Given the description of an element on the screen output the (x, y) to click on. 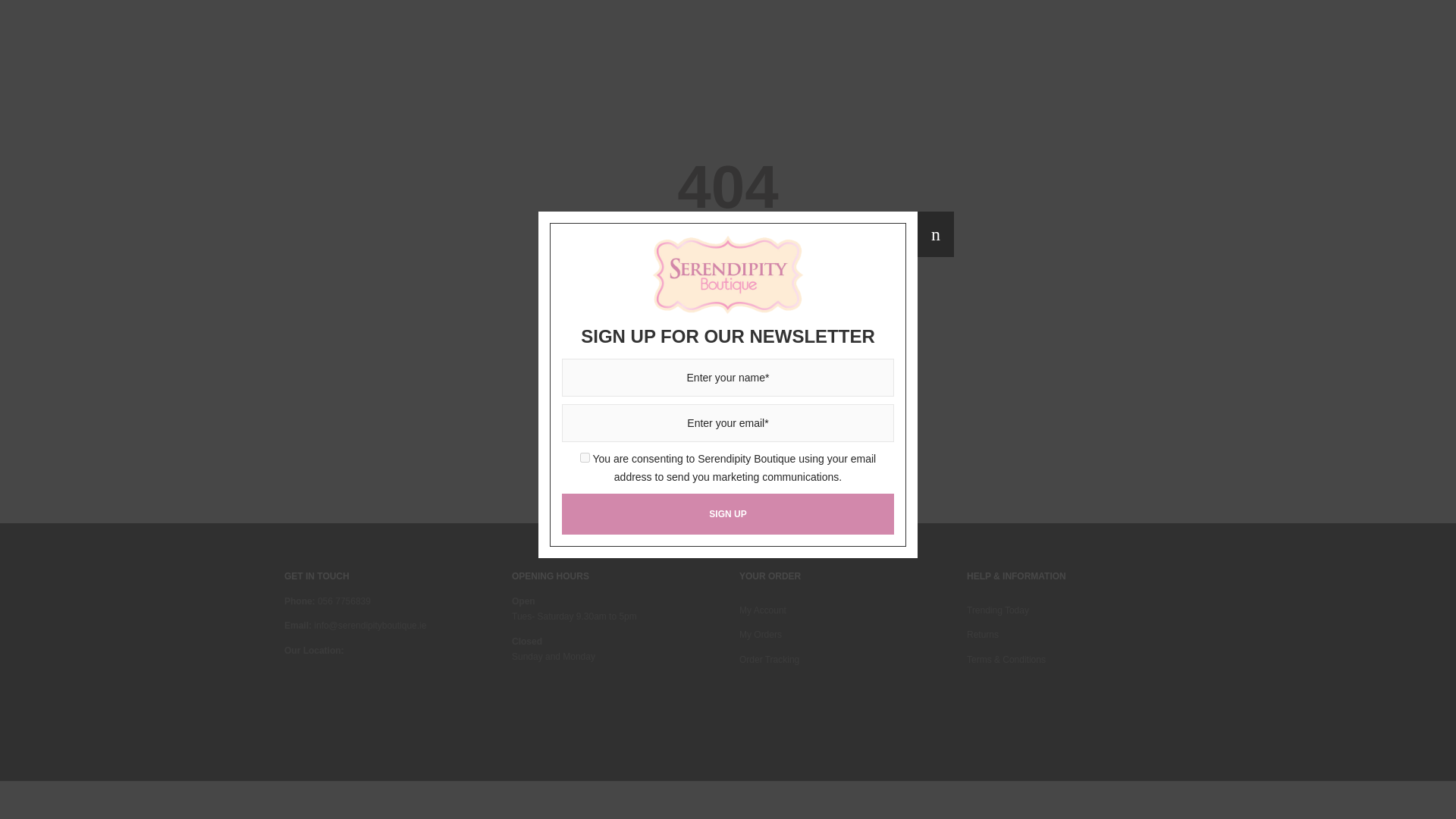
Returns (982, 634)
Trending Today (997, 610)
Back to homepage (728, 295)
Order Tracking (769, 659)
My Account (762, 610)
My Orders (760, 634)
on (584, 293)
